Given the description of an element on the screen output the (x, y) to click on. 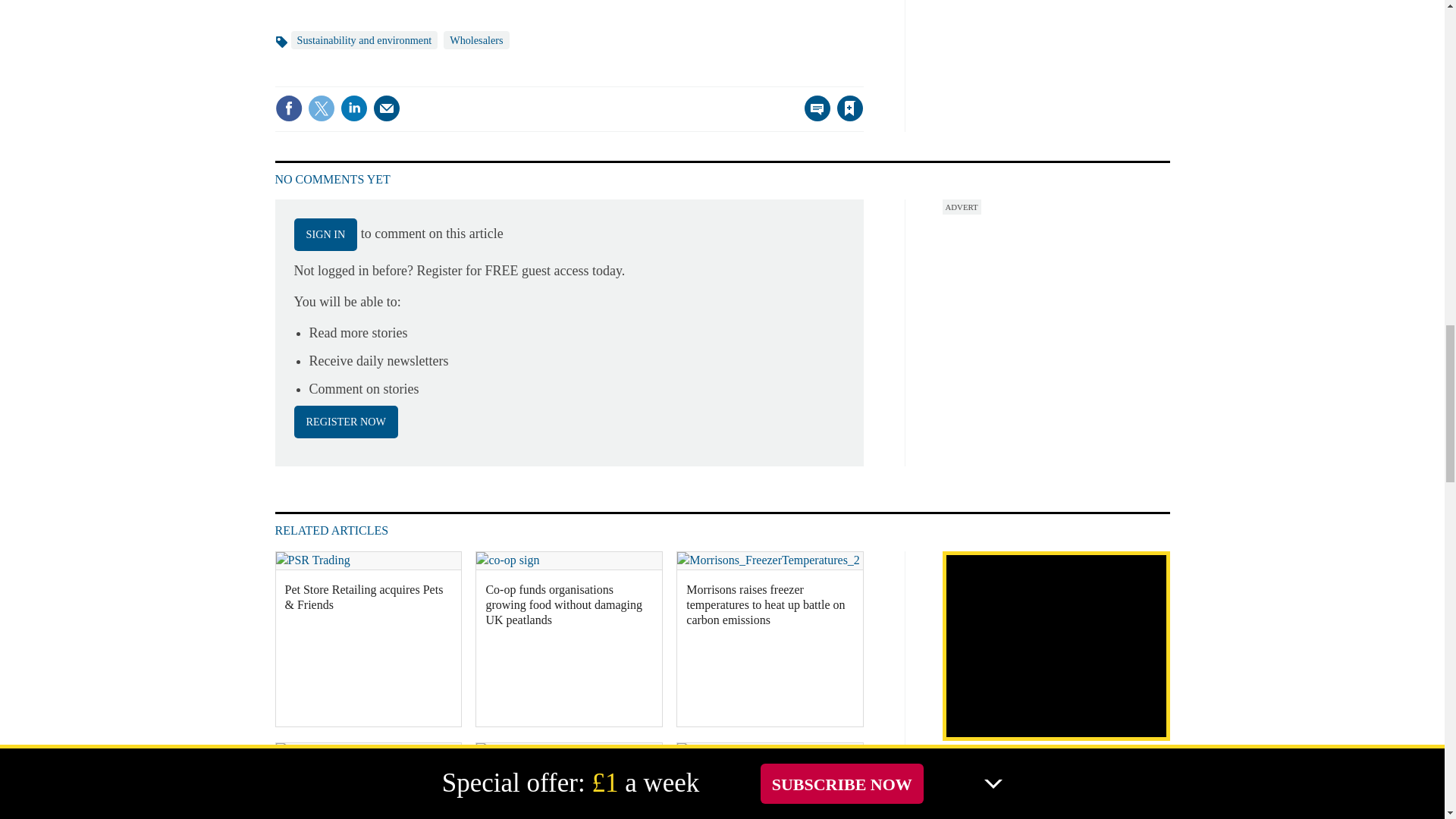
Share this on Twitter (320, 108)
No comments (812, 117)
Email this article (386, 108)
Share this on Facebook (288, 108)
Share this on Linked in (352, 108)
